Given the description of an element on the screen output the (x, y) to click on. 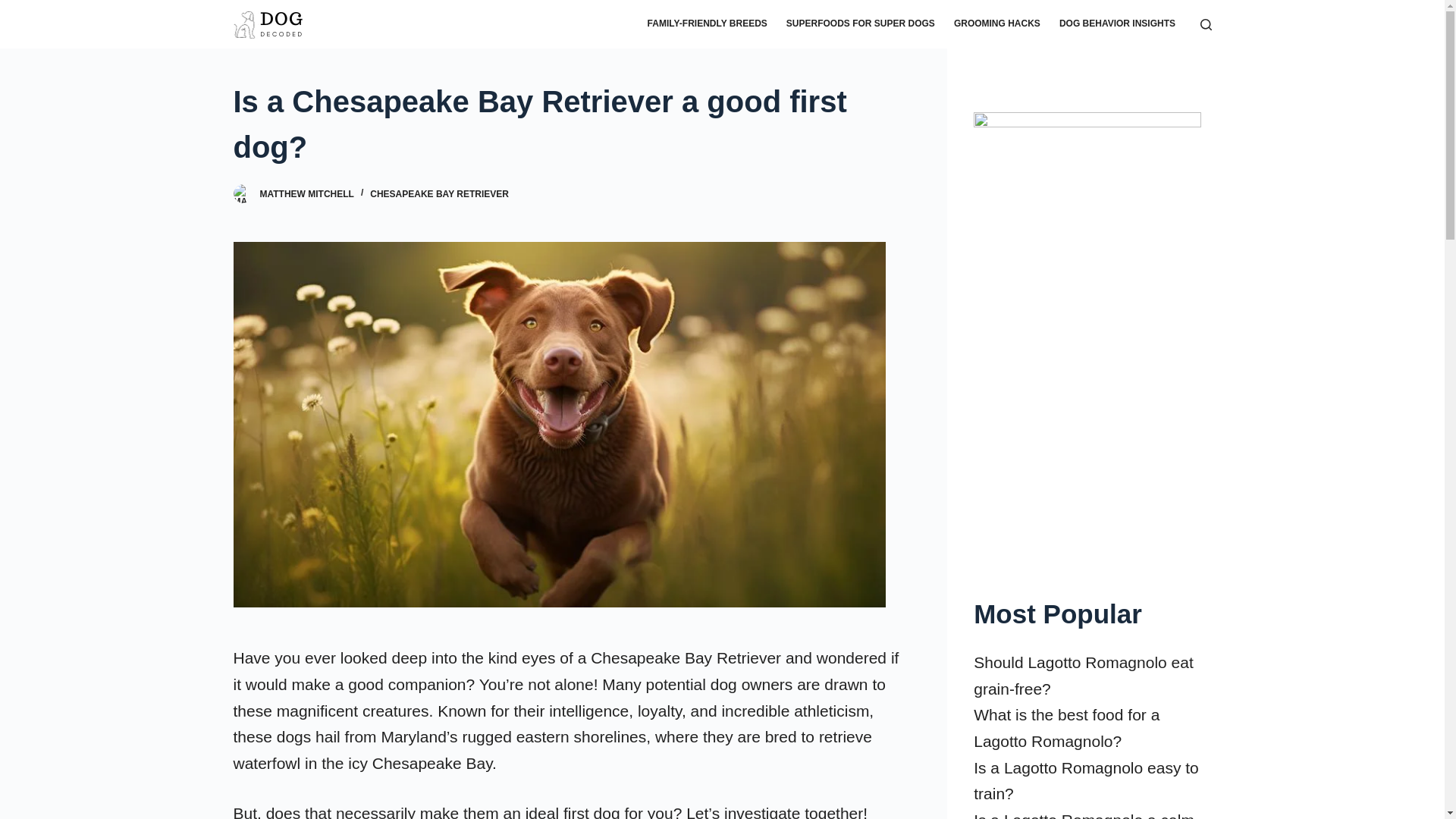
SUPERFOODS FOR SUPER DOGS (859, 24)
What is the best food for a Lagotto Romagnolo? (1066, 727)
Is a Lagotto Romagnolo easy to train? (1086, 781)
Posts by Matthew Mitchell (306, 194)
Is a Chesapeake Bay Retriever a good first dog? (570, 123)
CHESAPEAKE BAY RETRIEVER (438, 194)
MATTHEW MITCHELL (306, 194)
Is a Lagotto Romagnolo a calm dog? (1083, 815)
GROOMING HACKS (996, 24)
Skip to content (15, 7)
Should Lagotto Romagnolo eat grain-free? (1083, 675)
DOG BEHAVIOR INSIGHTS (1117, 24)
FAMILY-FRIENDLY BREEDS (706, 24)
